Given the description of an element on the screen output the (x, y) to click on. 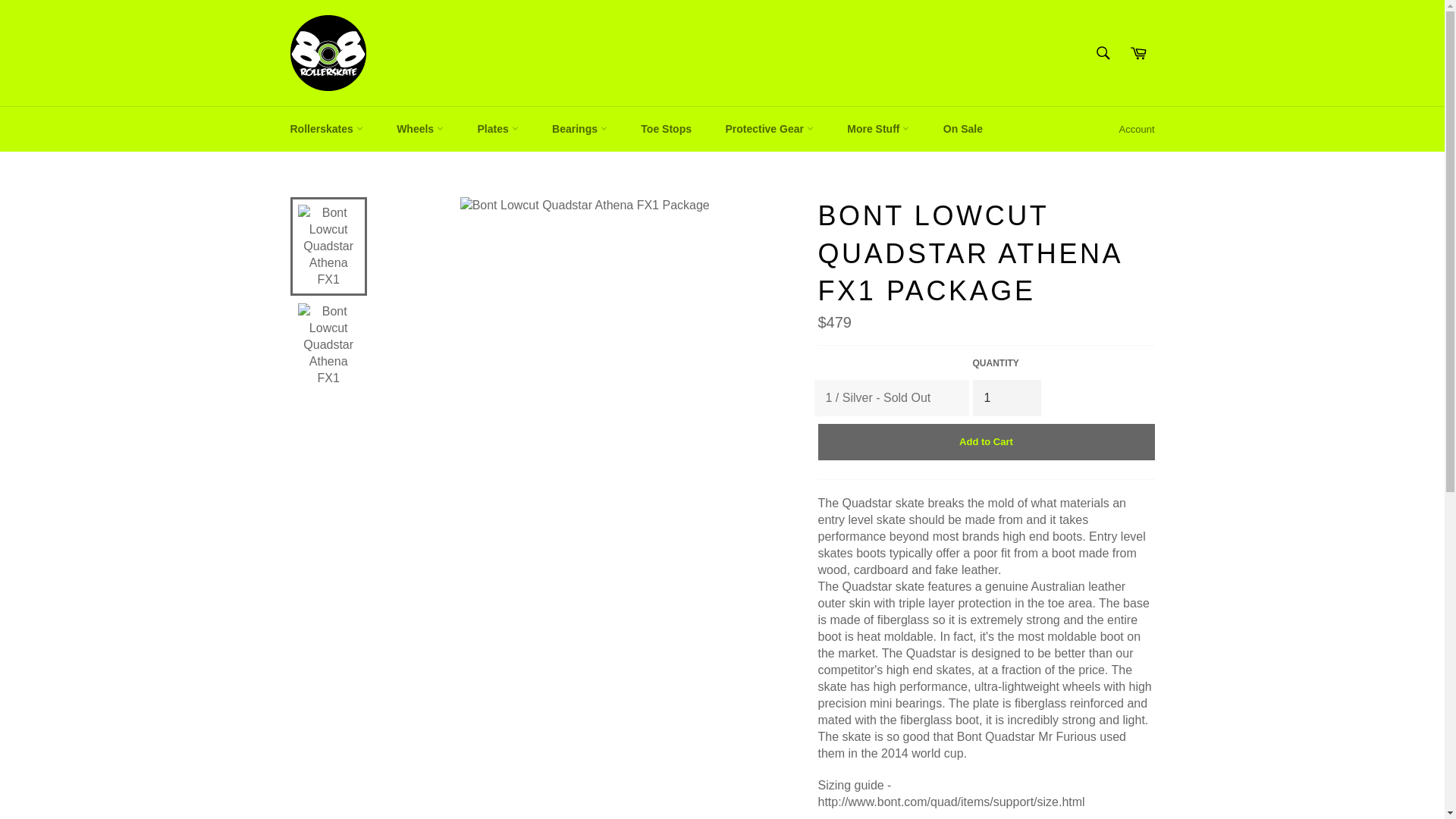
1 (1006, 398)
